Given the description of an element on the screen output the (x, y) to click on. 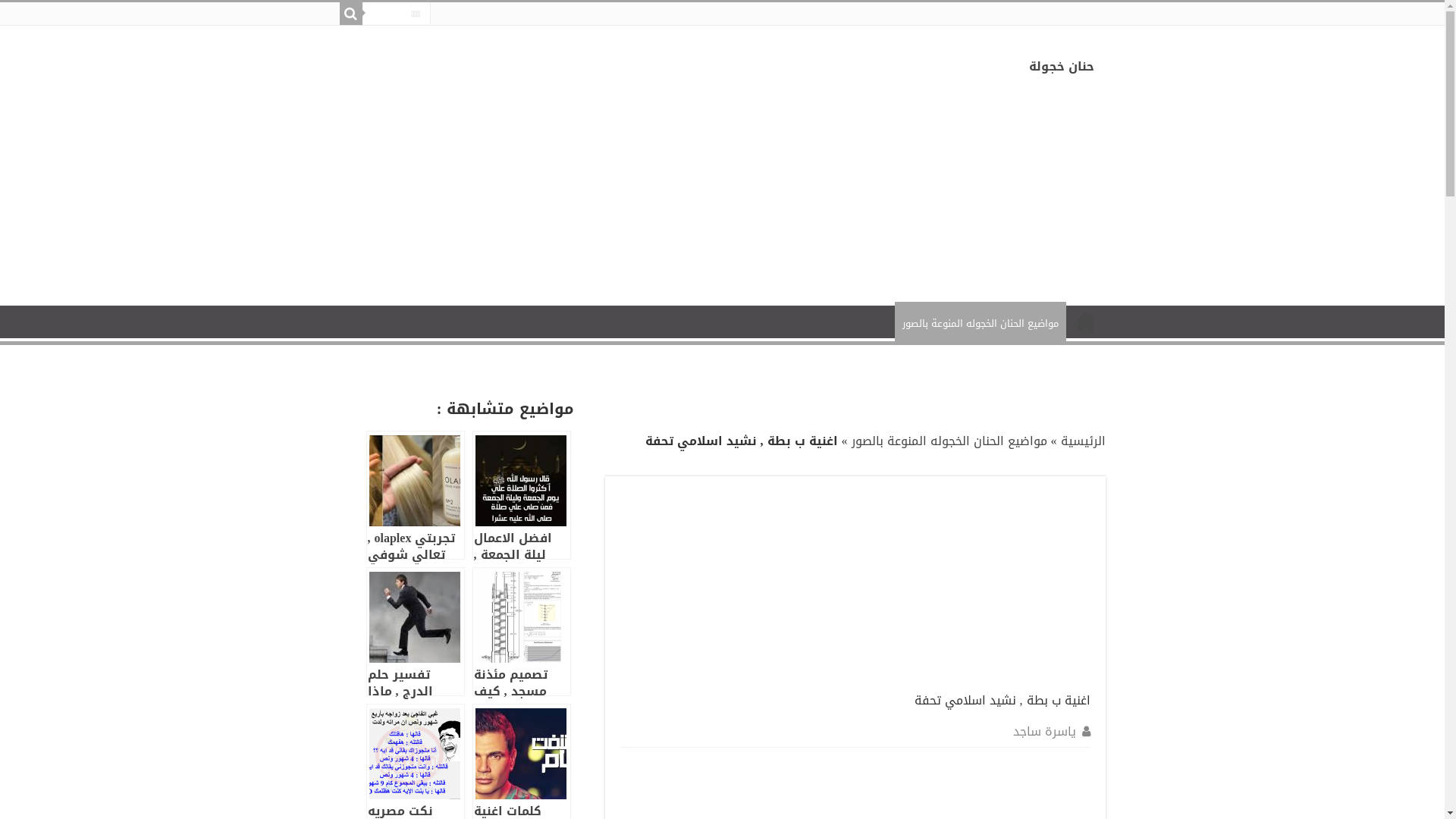
Advertisement Element type: hover (976, 585)
Advertisement Element type: hover (989, 199)
